Given the description of an element on the screen output the (x, y) to click on. 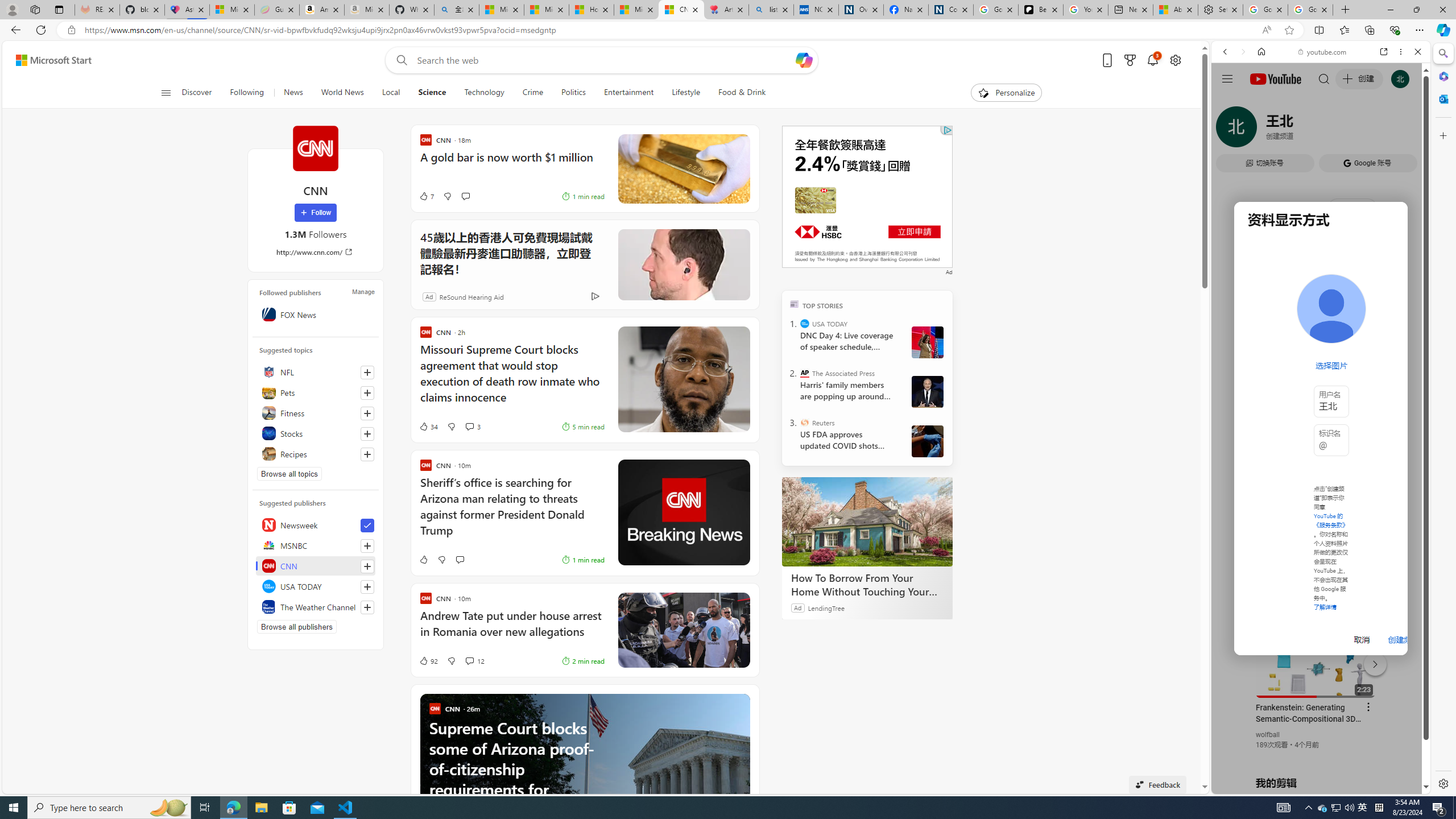
World News (342, 92)
Microsoft rewards (1129, 60)
Cookies (950, 9)
Discover (201, 92)
World News (341, 92)
Be Smart | creating Science videos | Patreon (1040, 9)
Like (422, 559)
Start the conversation (458, 559)
Music (1320, 309)
Web search (398, 60)
